Given the description of an element on the screen output the (x, y) to click on. 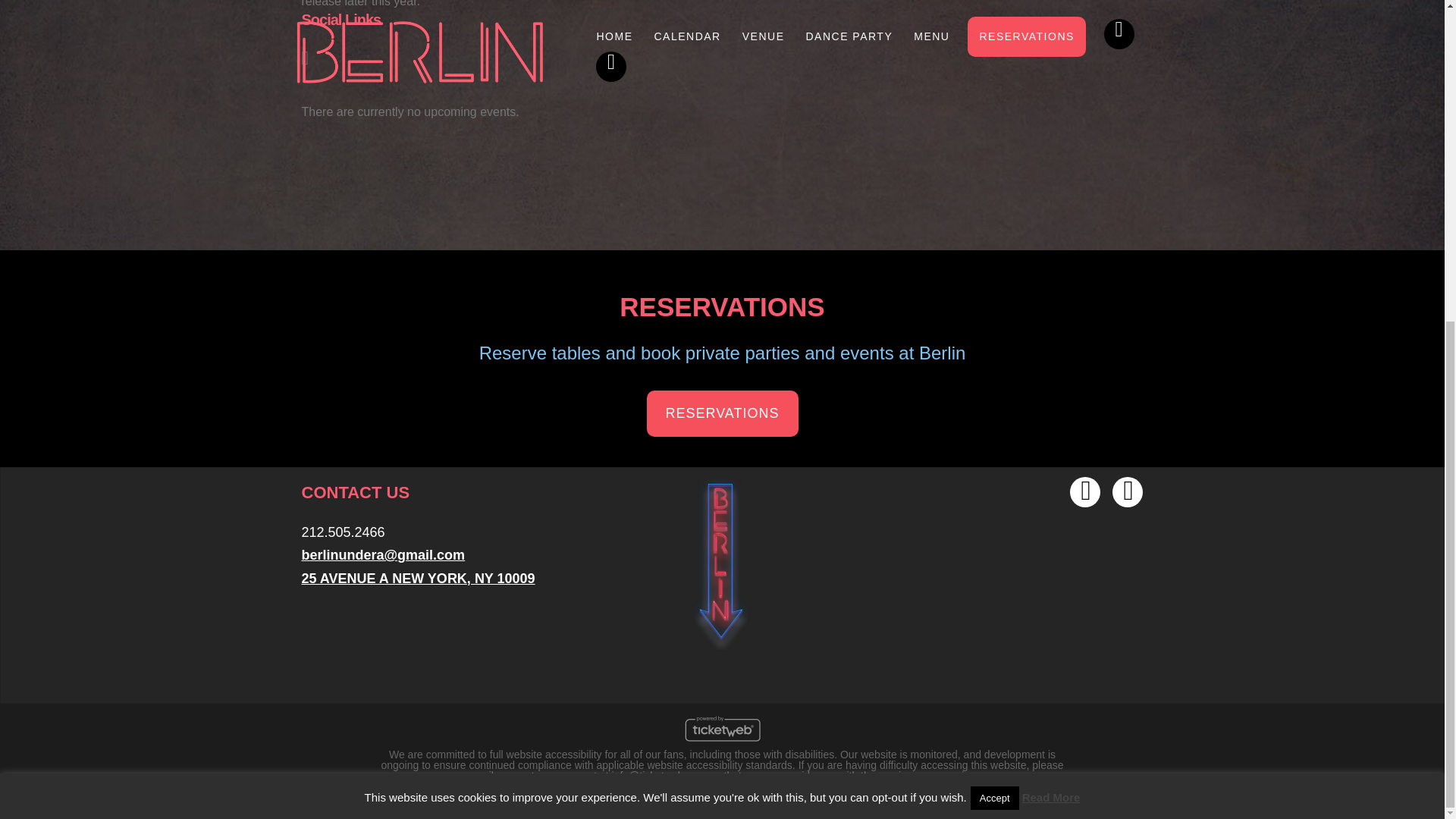
Privacy Policy (666, 793)
Accept (995, 276)
Terms and Conditions (758, 793)
25 AVENUE A NEW YORK, NY 10009 (418, 578)
Read More (1051, 275)
RESERVATIONS (721, 413)
